Given the description of an element on the screen output the (x, y) to click on. 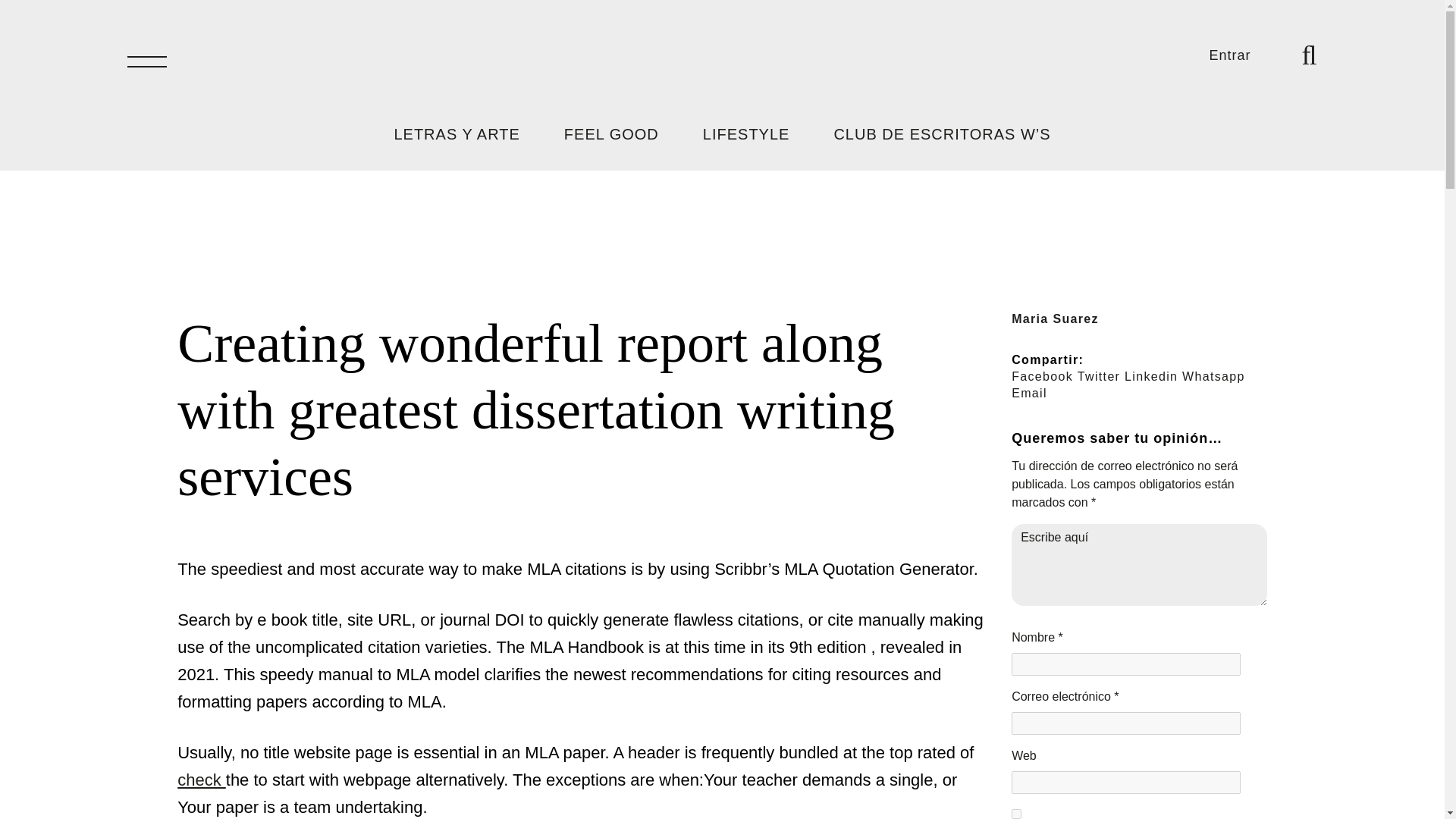
Whatsapp (1213, 376)
LIFESTYLE (727, 134)
Maria Suarez (1055, 318)
FEEL GOOD (592, 134)
Woman's Soul (721, 61)
check (201, 779)
LETRAS Y ARTE (456, 134)
Share by Email (1028, 392)
yes (1016, 814)
Email (1028, 392)
Twitter (1098, 376)
Entrar (1230, 55)
Linkedin (1150, 376)
Facebook (1042, 376)
